Given the description of an element on the screen output the (x, y) to click on. 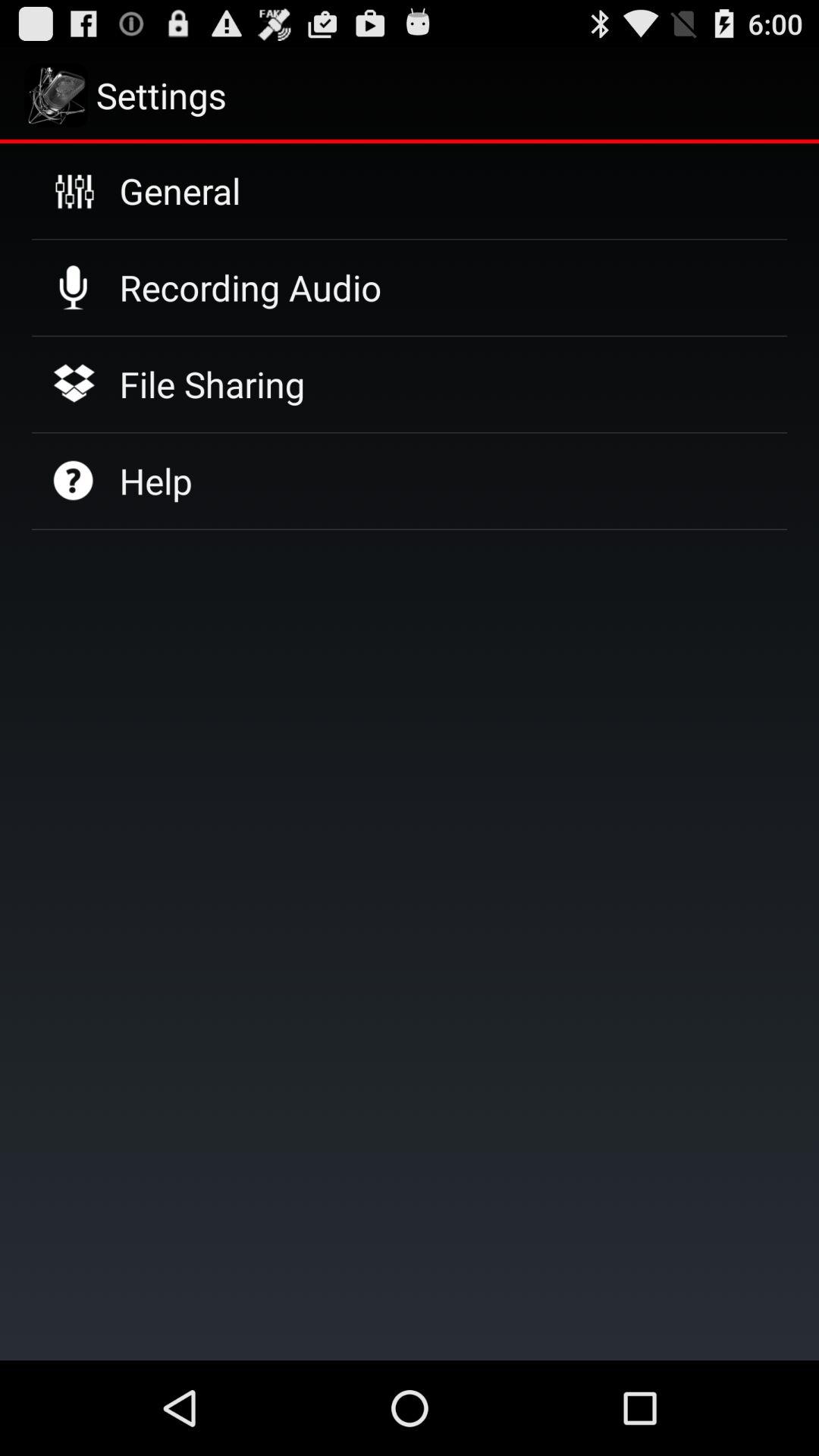
scroll to general app (179, 190)
